Given the description of an element on the screen output the (x, y) to click on. 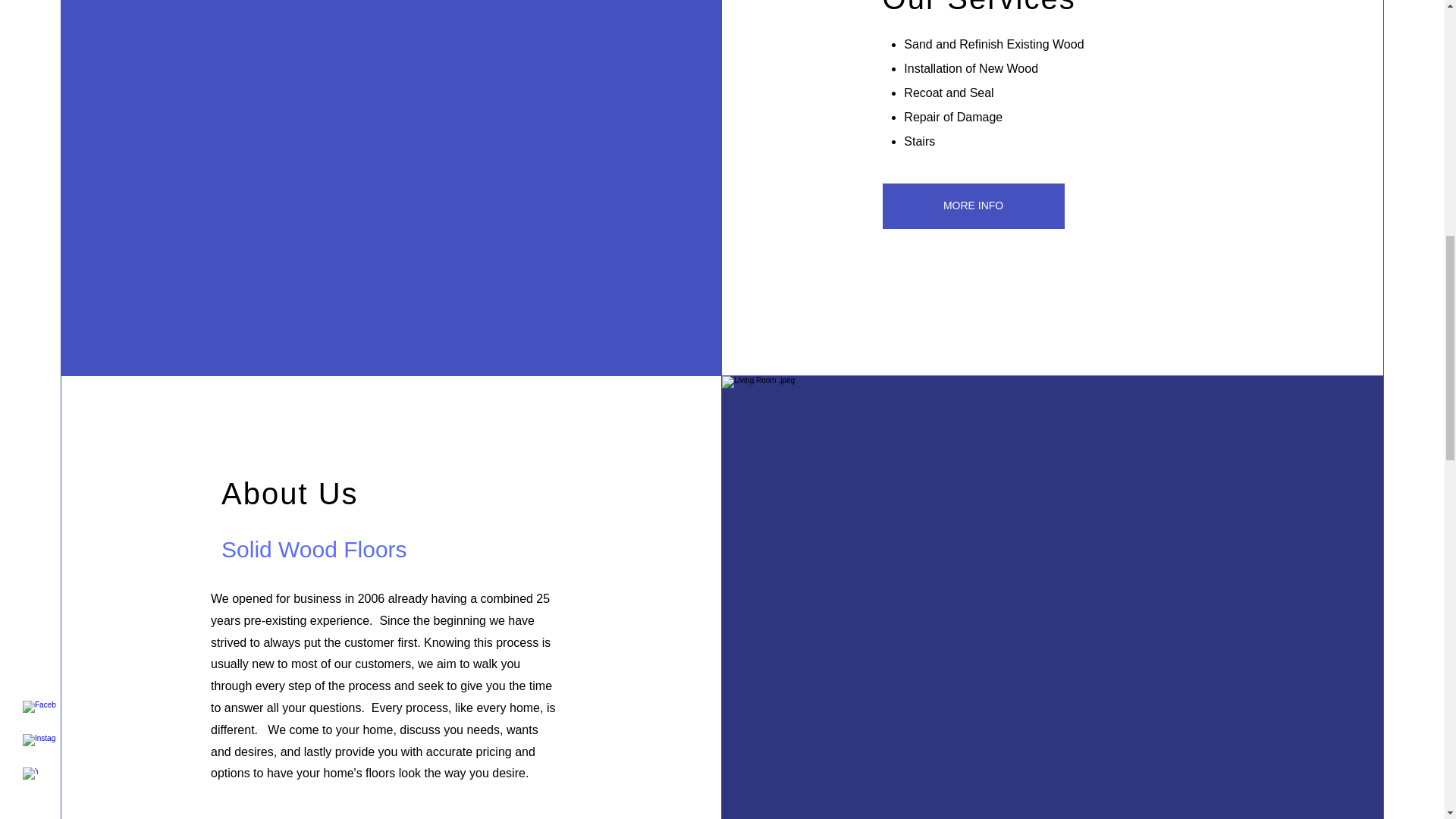
MORE INFO (973, 206)
